Given the description of an element on the screen output the (x, y) to click on. 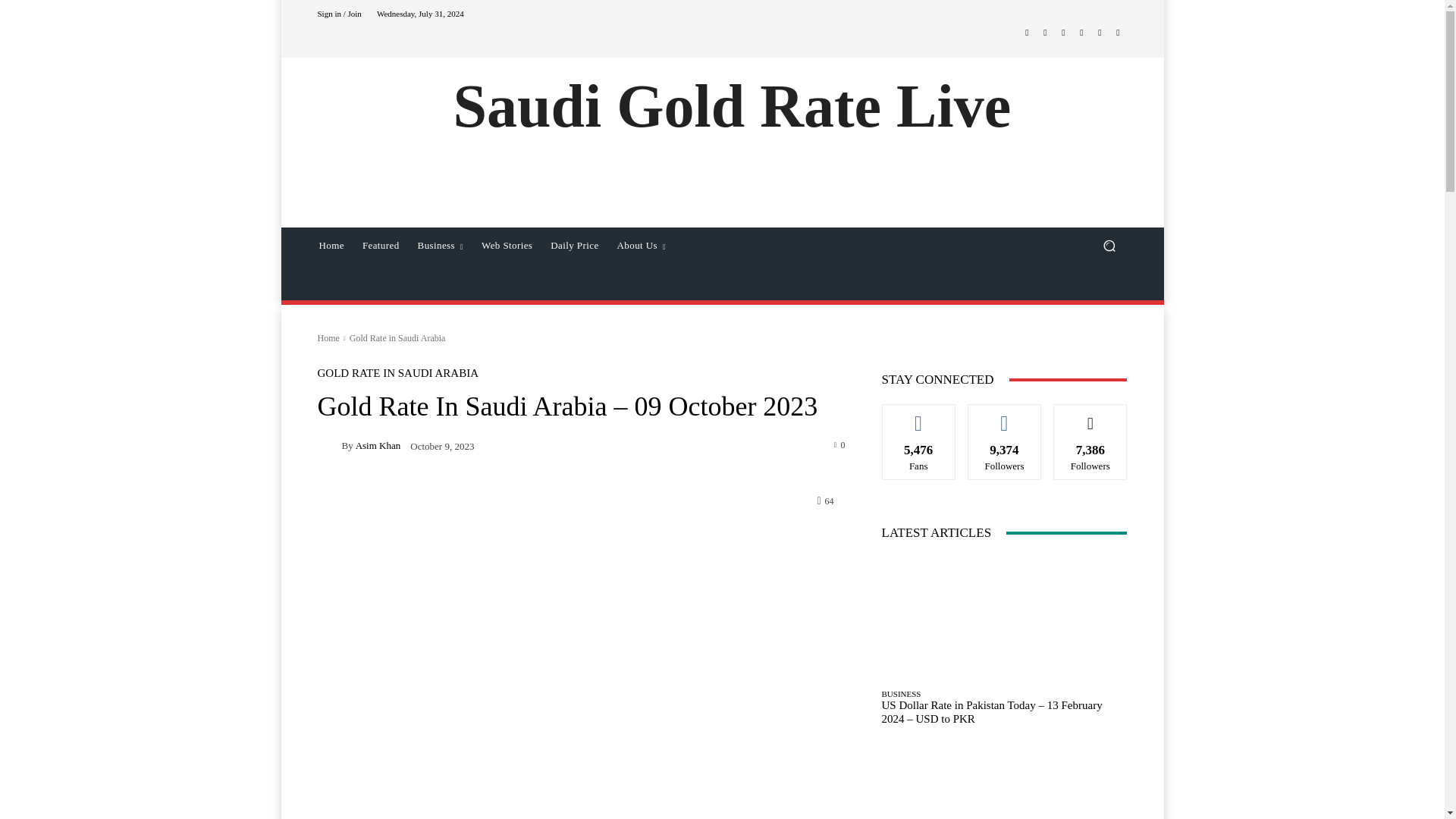
Home (330, 245)
Business (441, 245)
View all posts in Gold Rate in Saudi Arabia (397, 337)
Instagram (1044, 31)
WhatsApp (1117, 31)
Daily Price (574, 245)
Website (1099, 31)
About Us (641, 245)
Web Stories (506, 245)
Asim Khan (328, 444)
Twitter (1080, 31)
Featured (381, 245)
Telegram (1062, 31)
Saudi Gold Rate Live (732, 105)
Facebook (1026, 31)
